Given the description of an element on the screen output the (x, y) to click on. 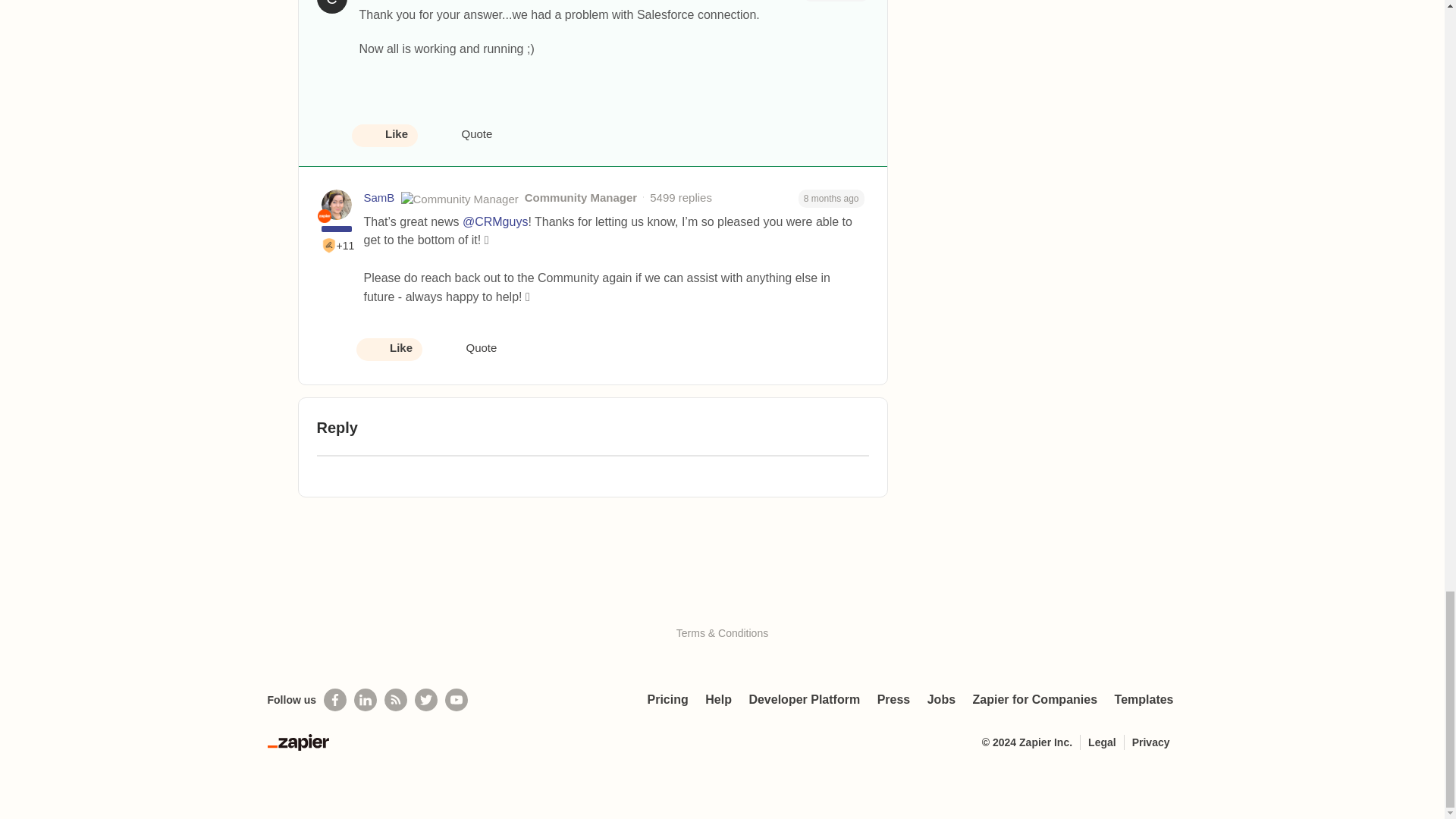
SamB (379, 198)
Follow us on Facebook (334, 699)
See helpful Zapier videos on Youtube (456, 699)
Visit Gainsight.com (722, 601)
Follow us on LinkedIn (365, 699)
Subscribe to our blog (395, 699)
CRMguys (384, 0)
Community Manager (323, 215)
First Best Answer (328, 245)
